Given the description of an element on the screen output the (x, y) to click on. 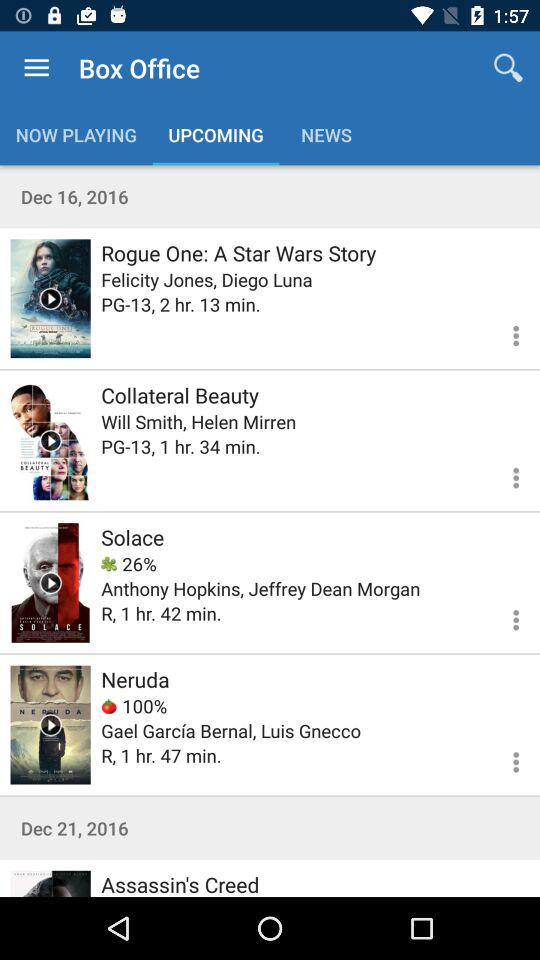
more information (503, 475)
